Given the description of an element on the screen output the (x, y) to click on. 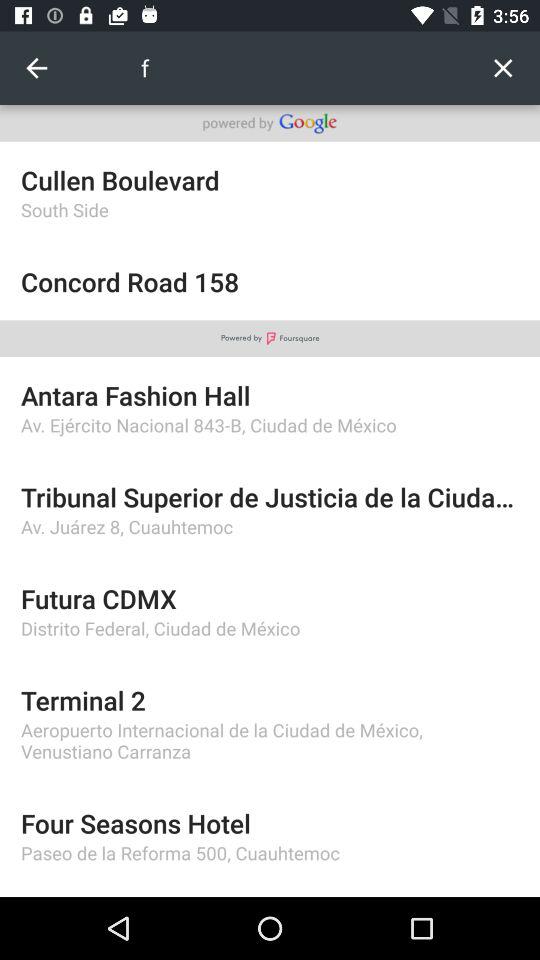
turn off paseo de la icon (270, 852)
